Given the description of an element on the screen output the (x, y) to click on. 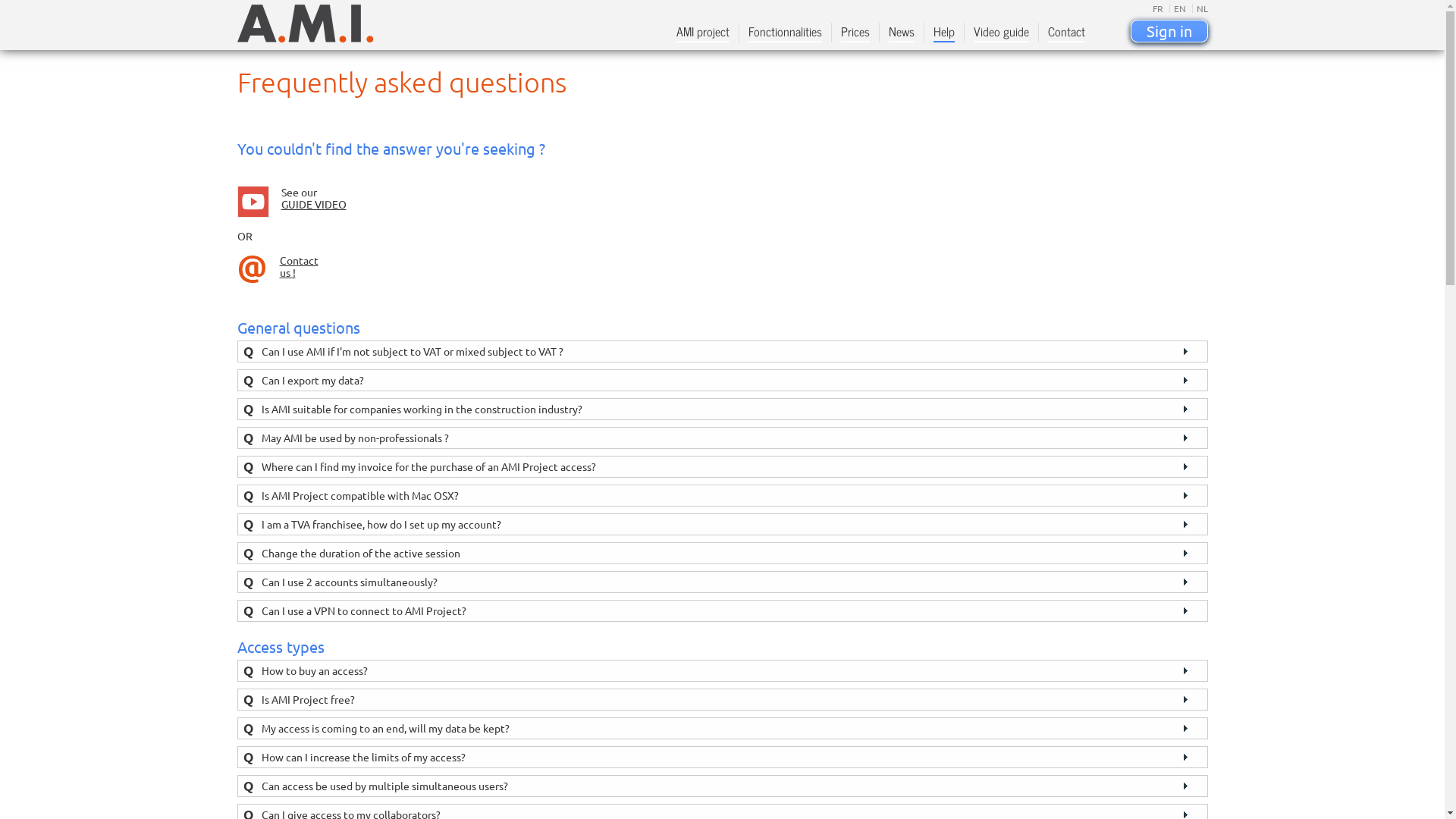
NL Element type: text (1200, 7)
Q Can access be used by multiple simultaneous users? Element type: text (721, 786)
Q Can I use a VPN to connect to AMI Project? Element type: text (721, 610)
Sign in Element type: text (1168, 30)
Q Is AMI Project compatible with Mac OSX? Element type: text (721, 495)
Q Can I export my data? Element type: text (721, 380)
GUIDE VIDEO Element type: text (312, 203)
News Element type: text (901, 33)
Q How can I increase the limits of my access? Element type: text (721, 757)
Contact Element type: text (1066, 33)
Q May AMI be used by non-professionals ? Element type: text (721, 437)
Help Element type: text (942, 33)
Q Can I use 2 accounts simultaneously? Element type: text (721, 582)
Q How to buy an access? Element type: text (721, 670)
Fonctionnalities Element type: text (784, 33)
ami project video guide Element type: hover (252, 201)
e-mail Element type: hover (251, 269)
AMI project Element type: text (702, 33)
Q My access is coming to an end, will my data be kept? Element type: text (721, 728)
Q Change the duration of the active session Element type: text (721, 553)
Q Is AMI Project free? Element type: text (721, 699)
EN Element type: text (1177, 7)
Prices Element type: text (854, 33)
Contact
us ! Element type: text (298, 266)
Q I am a TVA franchisee, how do I set up my account? Element type: text (721, 524)
AMI logo - Accounting Management Interface Element type: hover (304, 23)
Video guide Element type: text (1001, 33)
FR Element type: text (1157, 7)
